Given the description of an element on the screen output the (x, y) to click on. 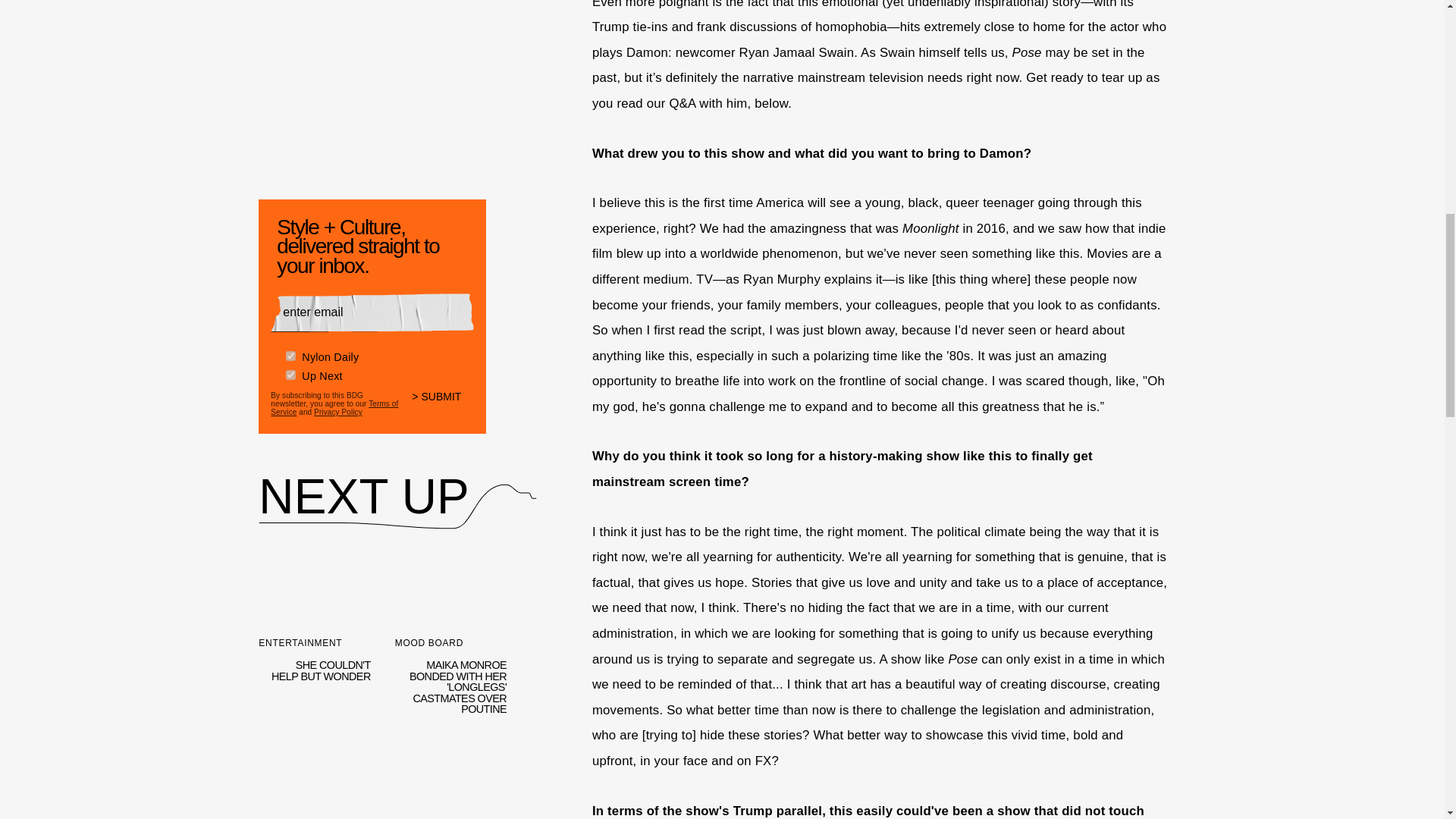
Terms of Service (333, 402)
SUBMIT (450, 778)
Privacy Policy (443, 399)
